Given the description of an element on the screen output the (x, y) to click on. 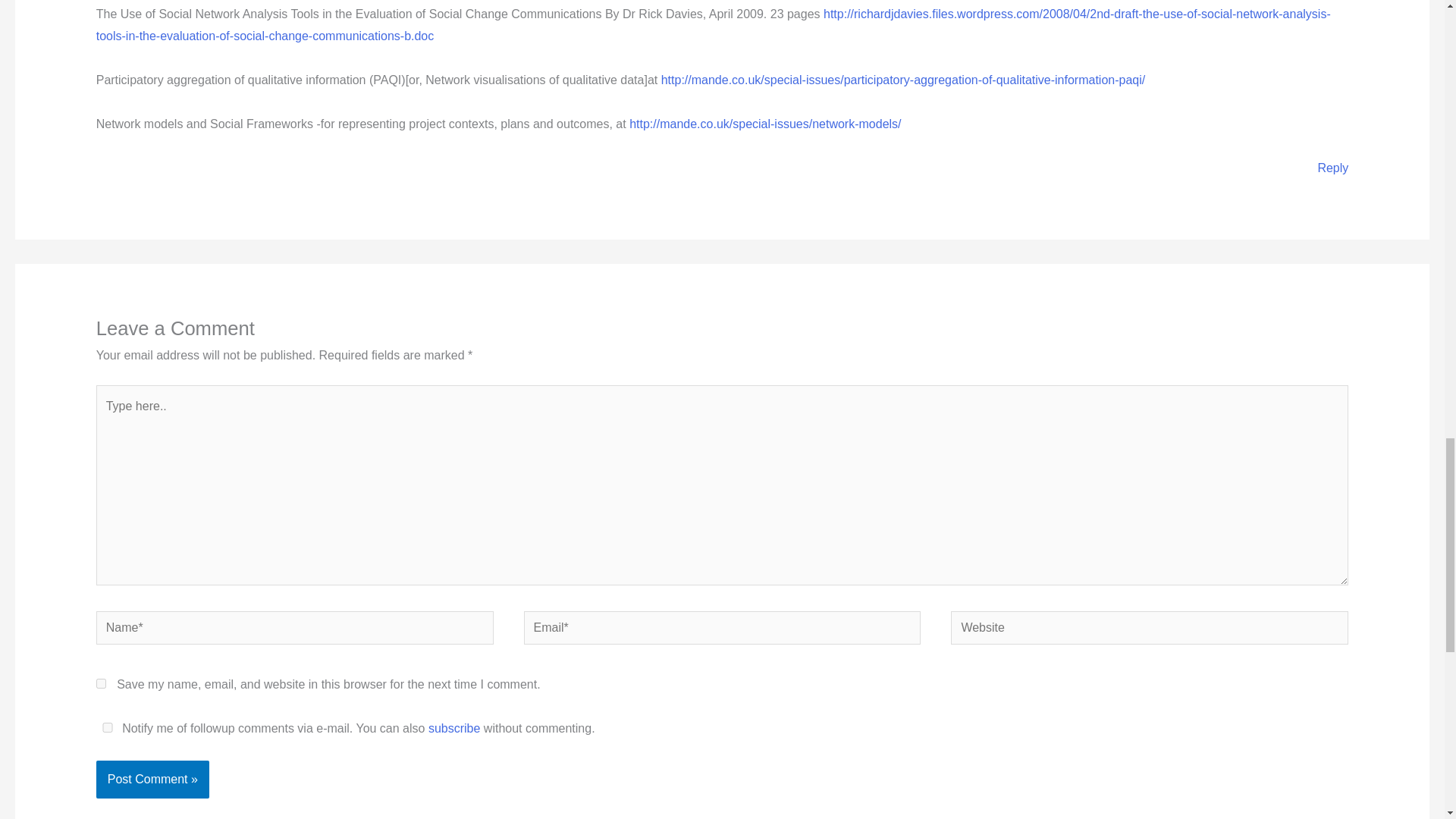
yes (107, 726)
subscribe (454, 727)
Reply (1332, 167)
yes (101, 683)
